Given the description of an element on the screen output the (x, y) to click on. 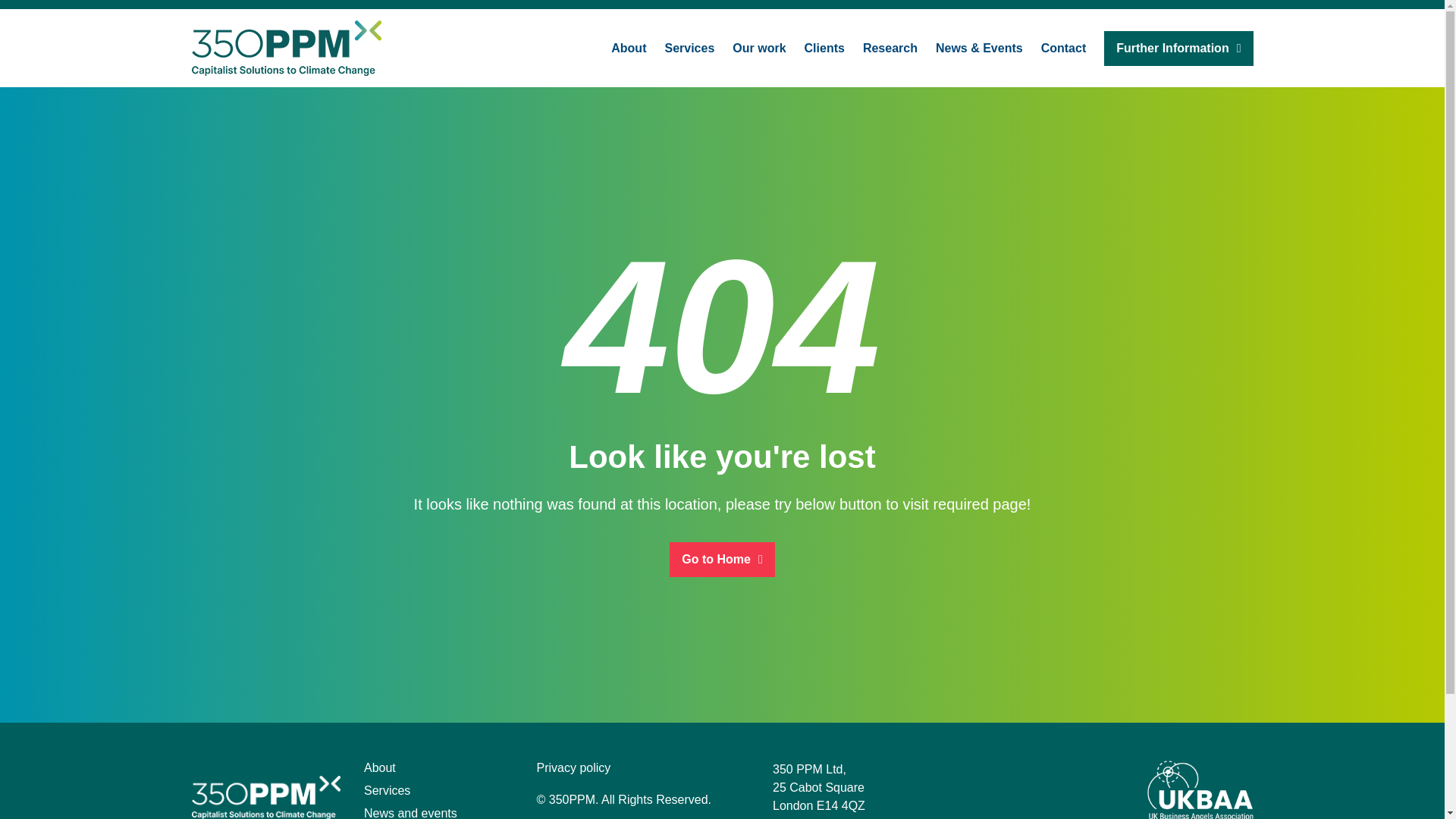
Research (890, 47)
Privacy policy (574, 767)
Our work (759, 47)
Go to Home (721, 558)
Services (387, 789)
About (628, 47)
Services (688, 47)
Further Information (1177, 47)
News and events (410, 812)
Contact (1063, 47)
Clients (824, 47)
About (380, 767)
